Given the description of an element on the screen output the (x, y) to click on. 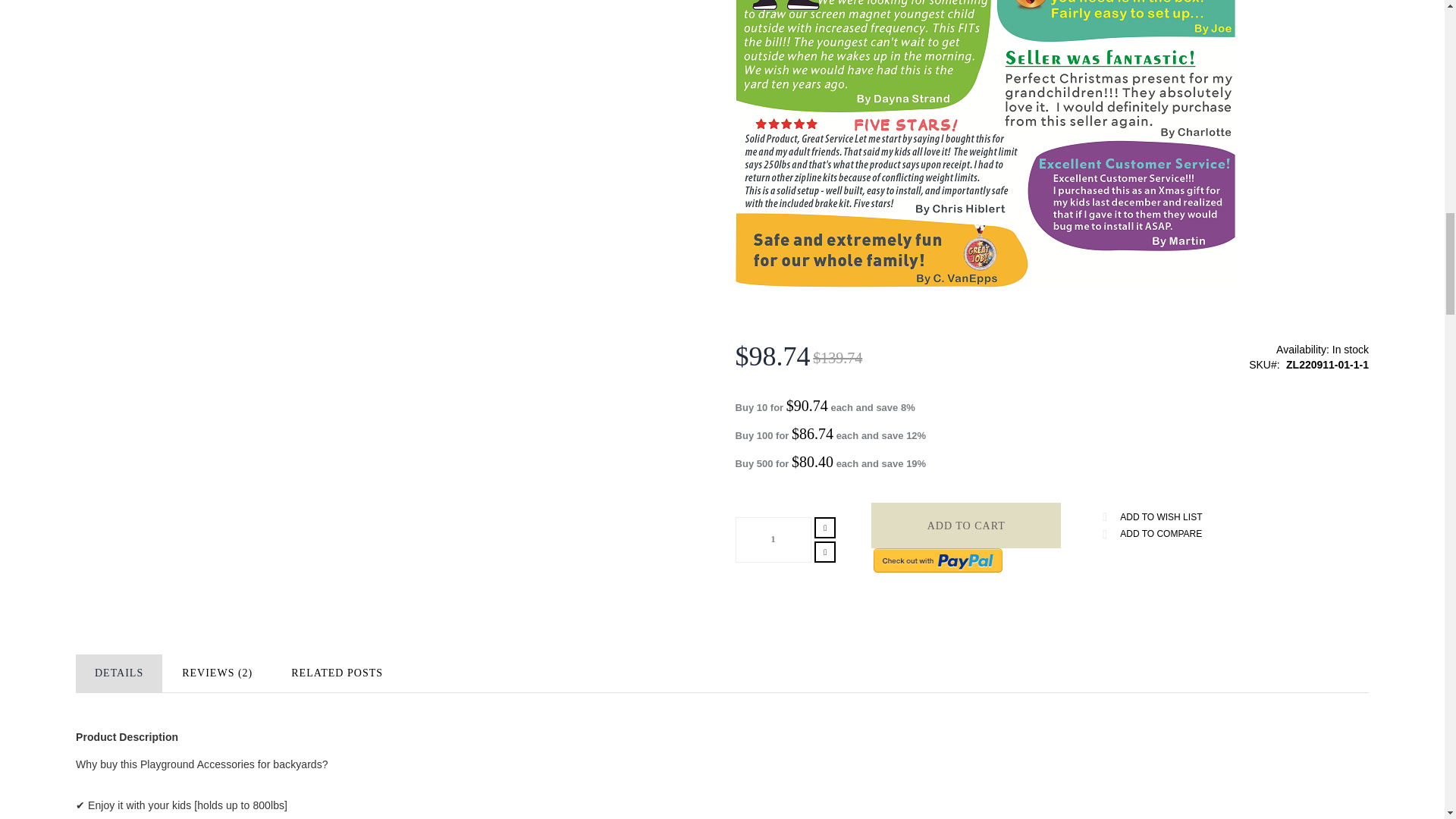
Qty (772, 539)
Checkout with PayPal (938, 559)
DETAILS (118, 673)
ADD TO CART (965, 524)
ADD TO COMPARE (1153, 534)
Add to Cart (965, 524)
ADD TO WISH LIST (1153, 516)
Availability (1251, 350)
1 (772, 539)
